Given the description of an element on the screen output the (x, y) to click on. 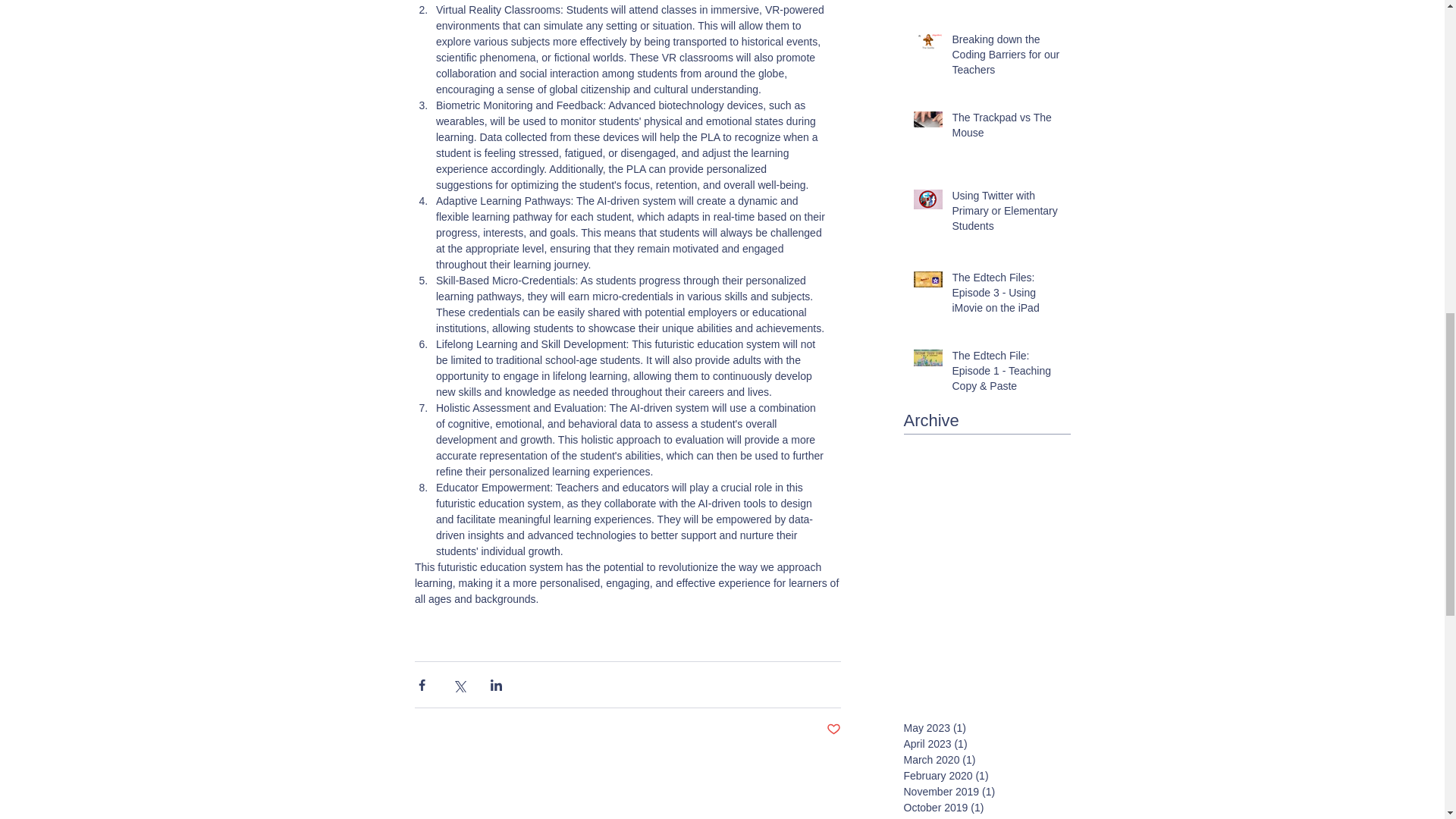
Breaking down the Coding Barriers for our Teachers (1006, 57)
The Trackpad vs The Mouse (1006, 128)
Post not marked as liked (834, 729)
